Given the description of an element on the screen output the (x, y) to click on. 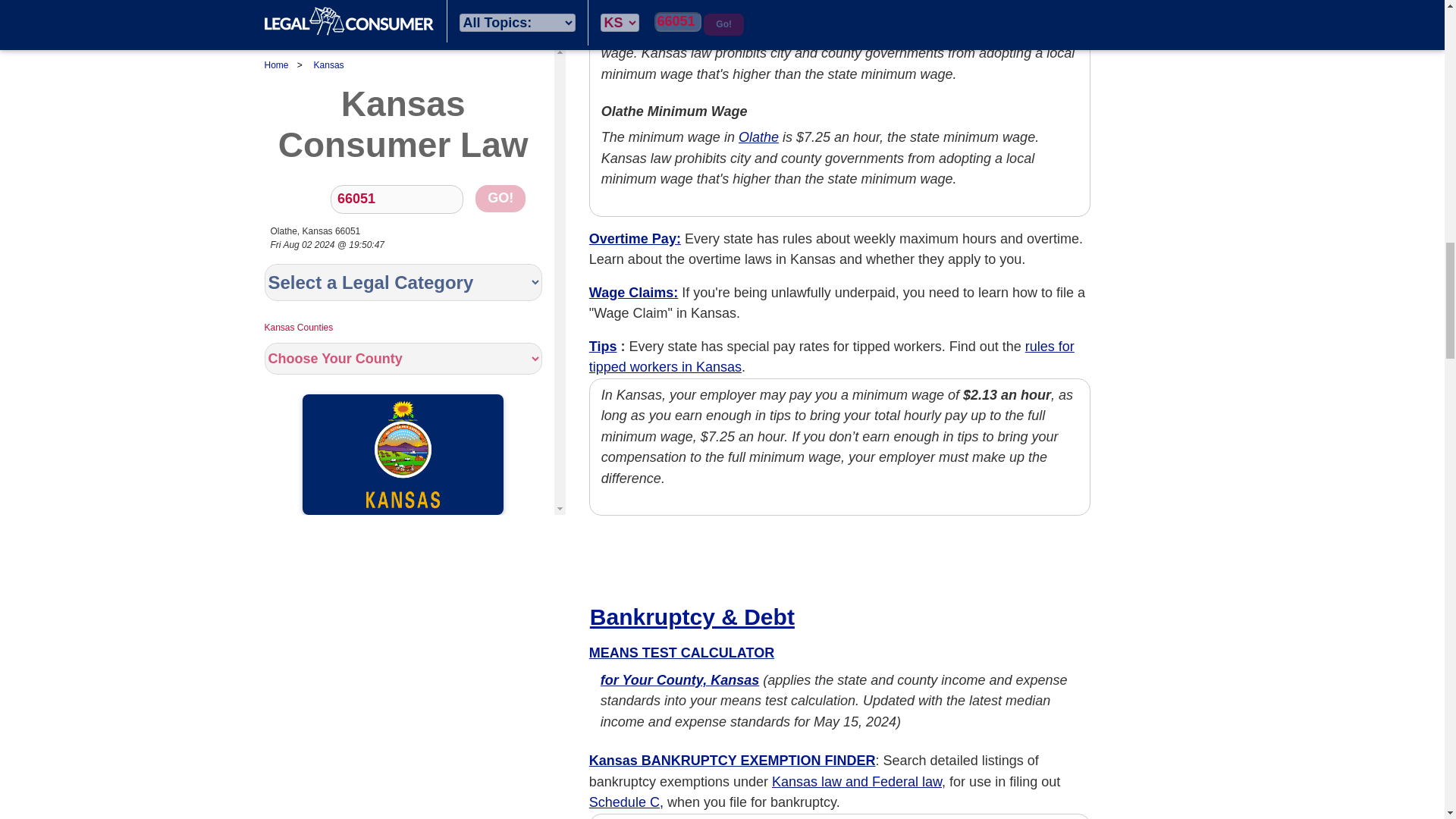
Tips (603, 346)
Johnson County (787, 32)
Wage Claims: (633, 292)
MEANS TEST CALCULATOR (681, 652)
Overtime Pay: (635, 238)
Olathe (758, 136)
rules for tipped workers in Kansas (831, 357)
